Given the description of an element on the screen output the (x, y) to click on. 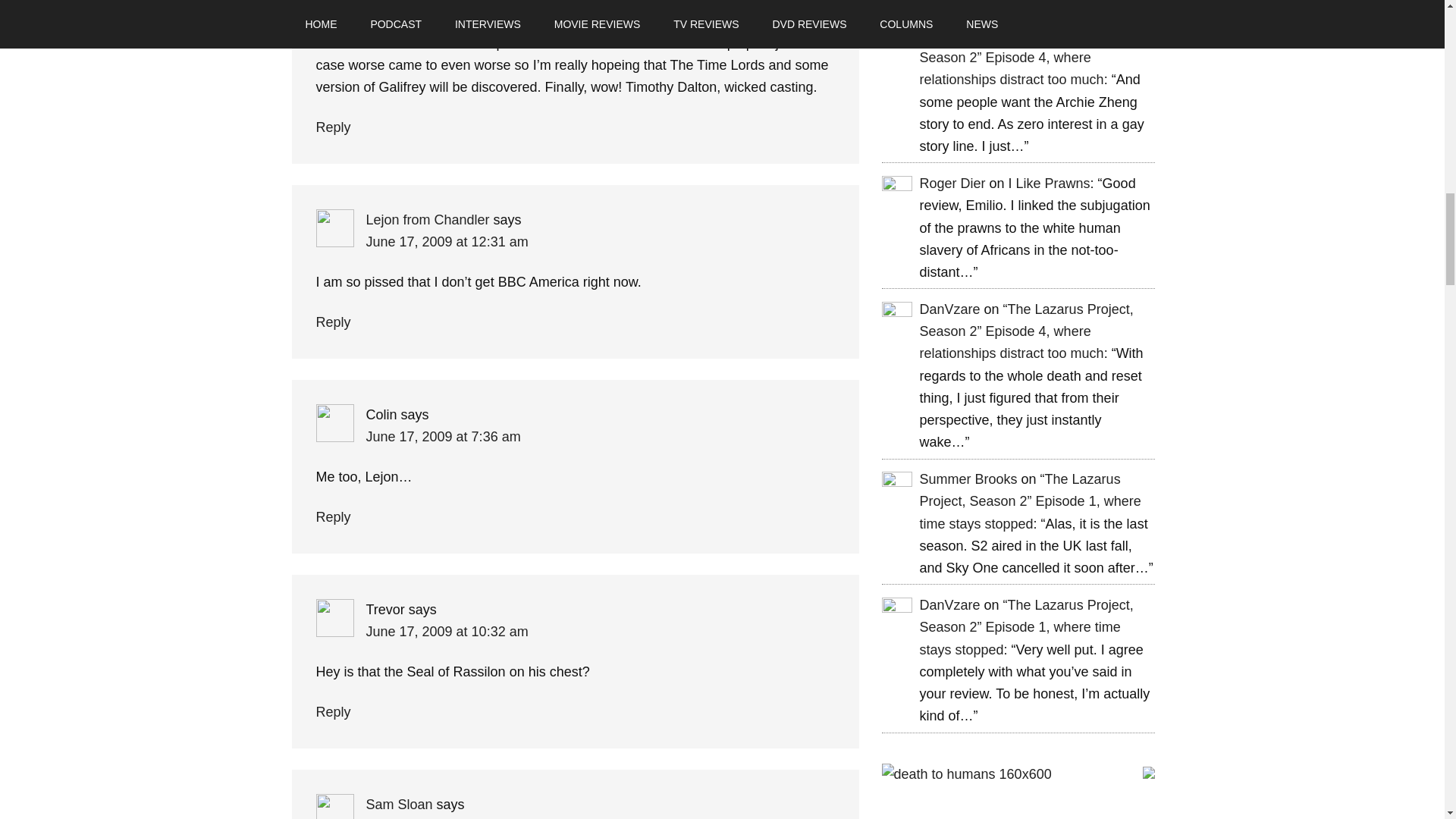
June 17, 2009 at 12:31 am (446, 241)
Lejon from Chandler (427, 219)
Reply (332, 127)
Reply (332, 322)
